Given the description of an element on the screen output the (x, y) to click on. 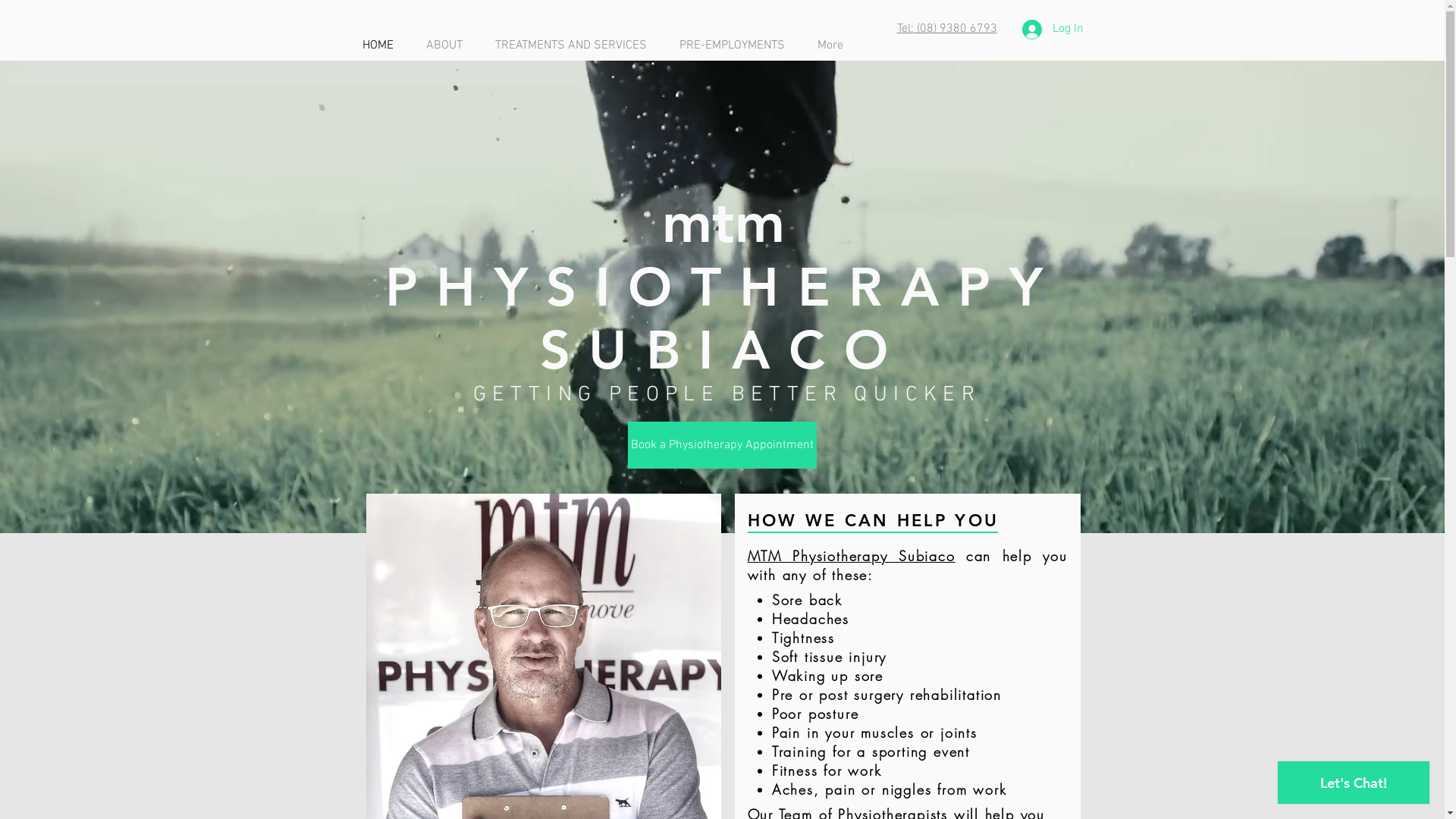
Tel: (08) 9380 6793 Element type: text (946, 28)
Log In Element type: text (1052, 29)
HOME Element type: text (382, 45)
Book a Physiotherapy Appointment Element type: text (721, 444)
TREATMENTS AND SERVICES Element type: text (575, 45)
ABOUT Element type: text (448, 45)
PRE-EMPLOYMENTS Element type: text (736, 45)
MTM Physiotherapy Subiaco Element type: text (851, 555)
